Given the description of an element on the screen output the (x, y) to click on. 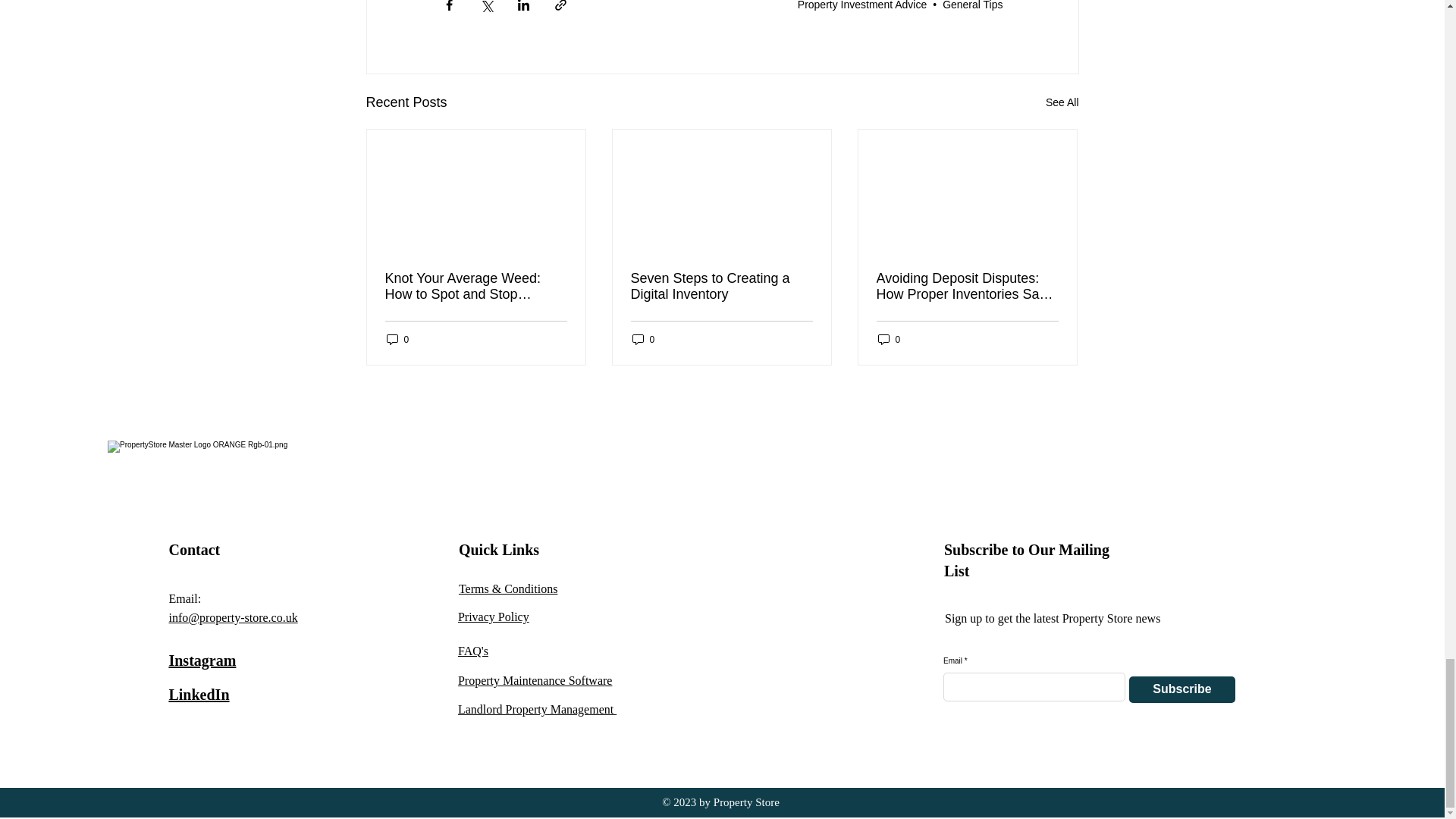
Seven Steps to Creating a Digital Inventory (721, 286)
See All (1061, 102)
Property Investment Advice (861, 5)
0 (397, 339)
0 (889, 339)
General Tips (972, 5)
0 (643, 339)
